Given the description of an element on the screen output the (x, y) to click on. 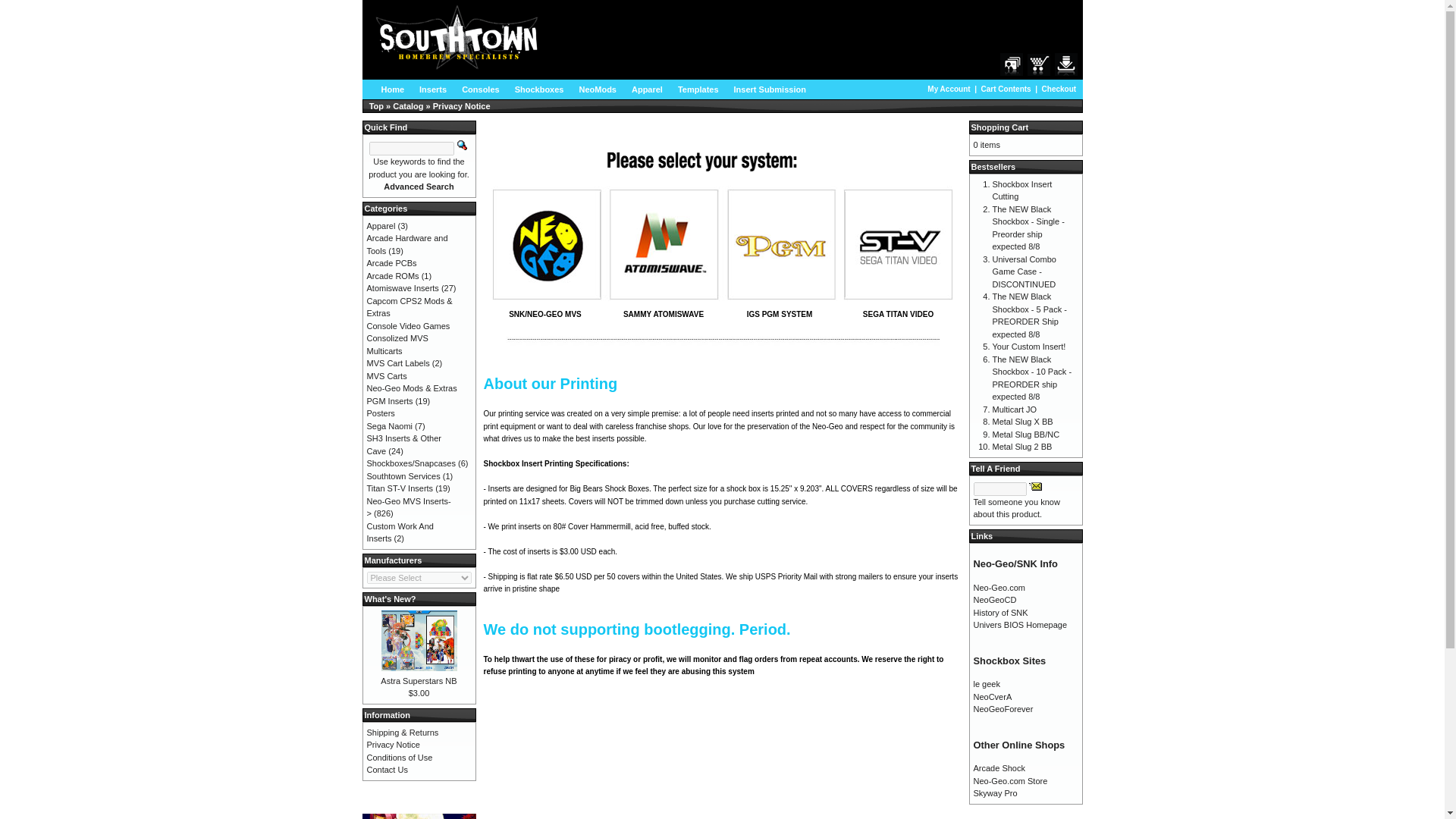
Arcade Hardware and Tools (407, 244)
Home (393, 88)
My Account (1011, 64)
SAMMY ATOMISWAVE (663, 314)
Arcade PCBs (391, 262)
Consoles (480, 88)
SEGA TITAN VIDEO (898, 314)
IGS PGM SYSTEM (779, 314)
Cart Contents (1038, 64)
Consolized MVS (397, 338)
Templates (698, 88)
Multicarts (384, 349)
Catalog (408, 105)
Privacy Notice (461, 105)
